Given the description of an element on the screen output the (x, y) to click on. 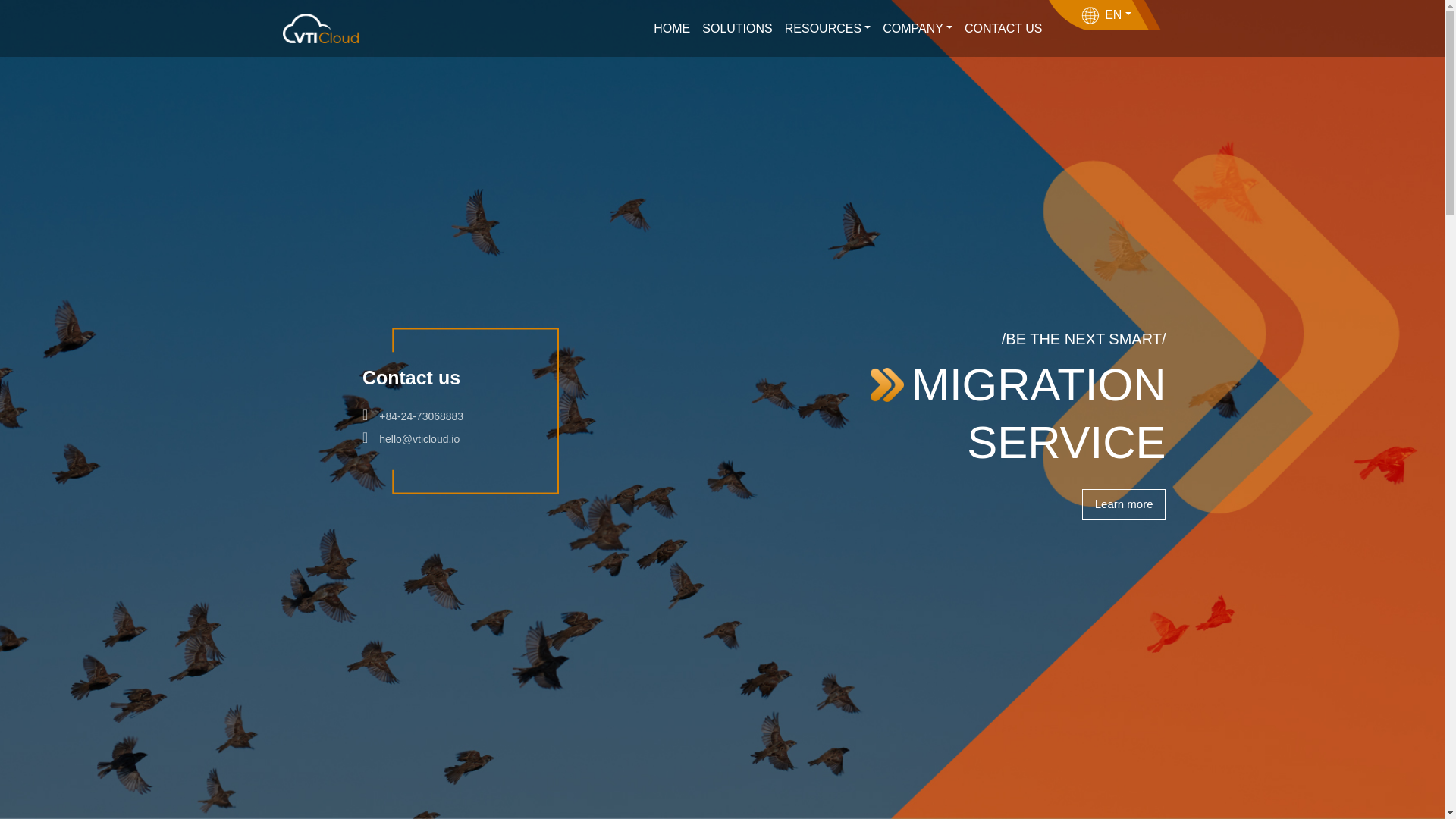
RESOURCES (827, 28)
RESOURCES (827, 28)
COMPANY (917, 28)
CONTACT US (1003, 28)
Home (671, 28)
EN (1092, 15)
Learn more (1123, 504)
SOLUTIONS (736, 28)
COMPANY (917, 28)
Solutions (736, 28)
HOME (671, 28)
